Given the description of an element on the screen output the (x, y) to click on. 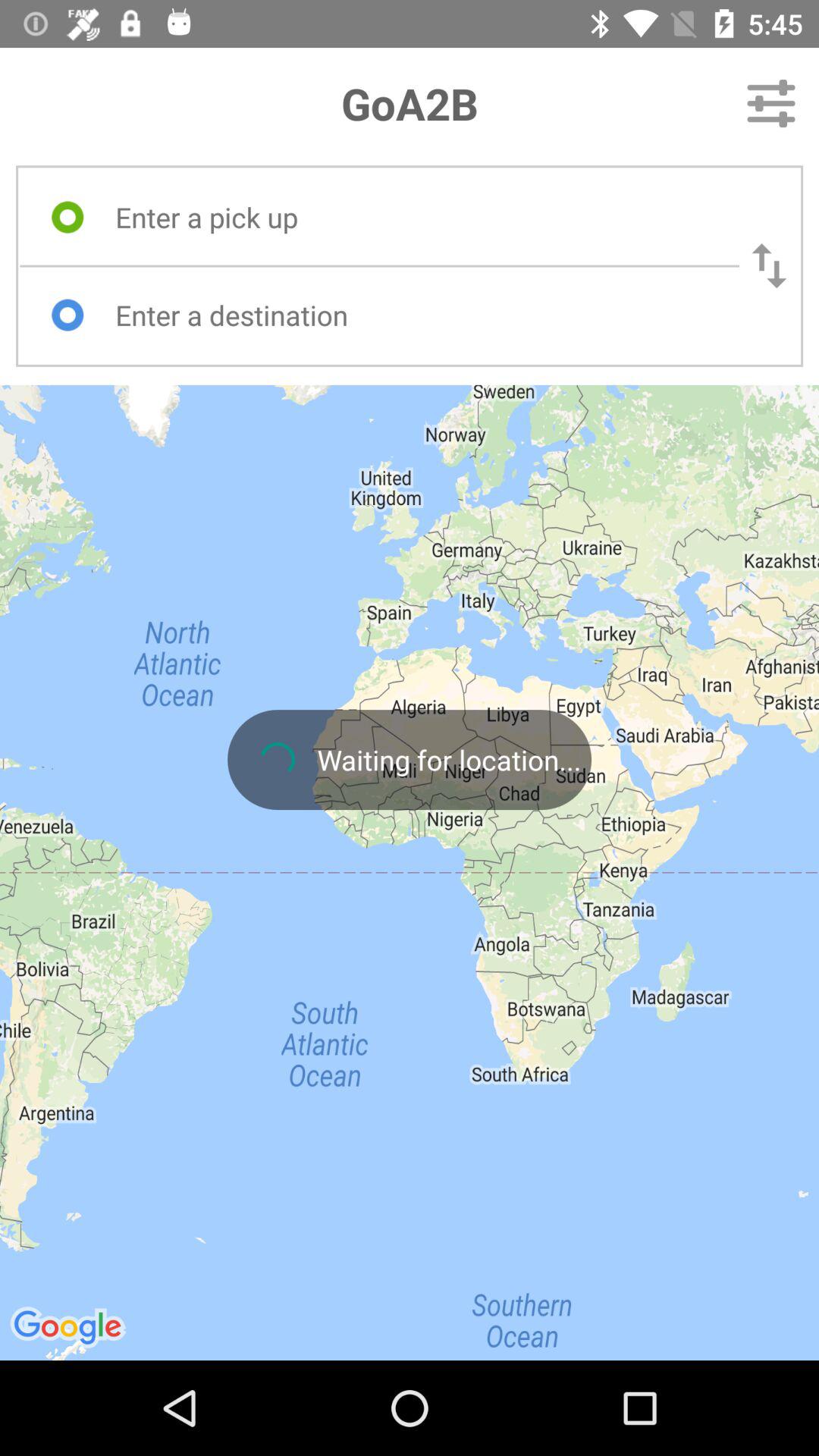
tap the icon to the right of the goa2b item (771, 103)
